Given the description of an element on the screen output the (x, y) to click on. 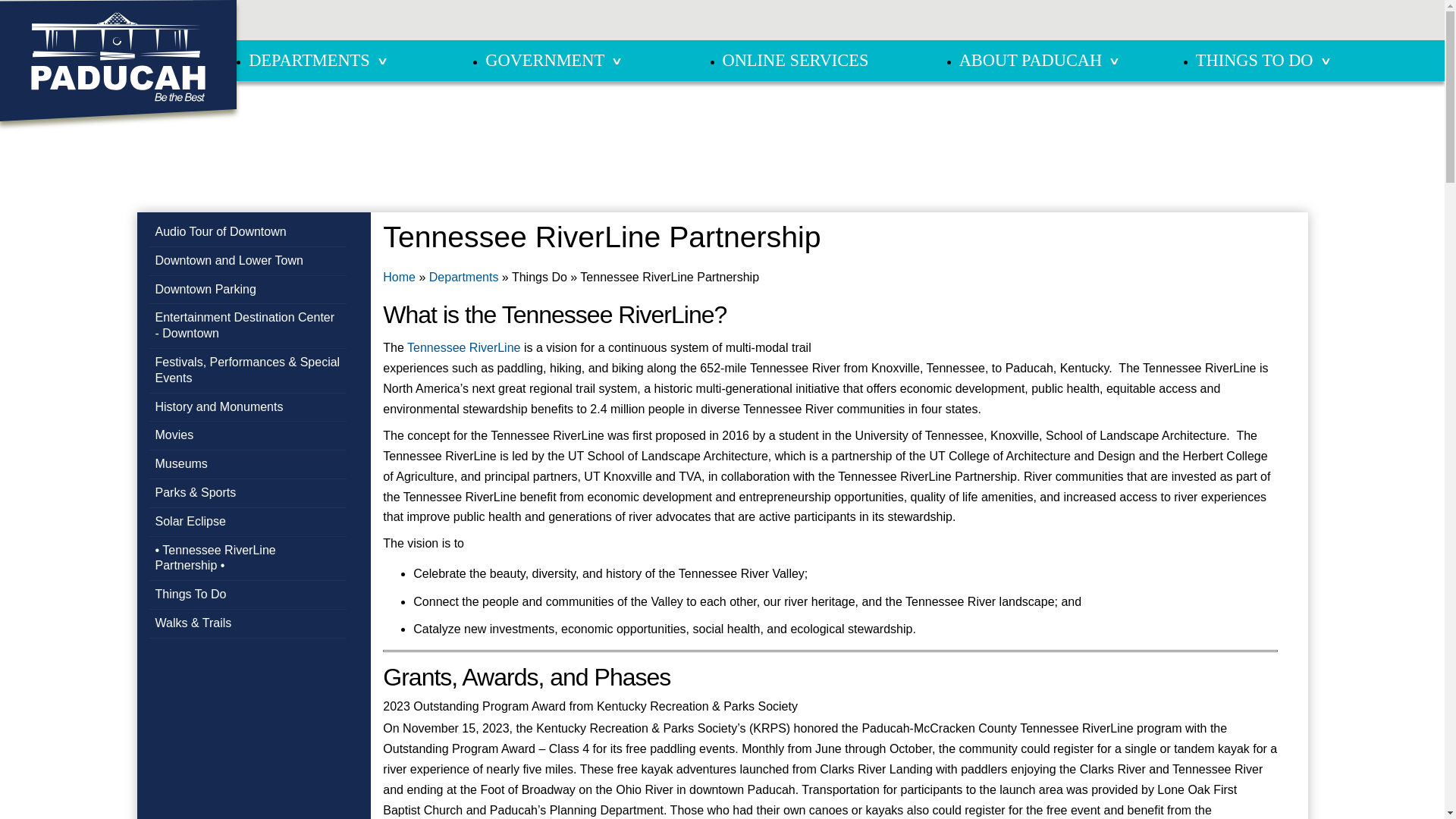
DEPARTMENTS (308, 59)
GOVERNMENT (544, 59)
Home (117, 57)
